Given the description of an element on the screen output the (x, y) to click on. 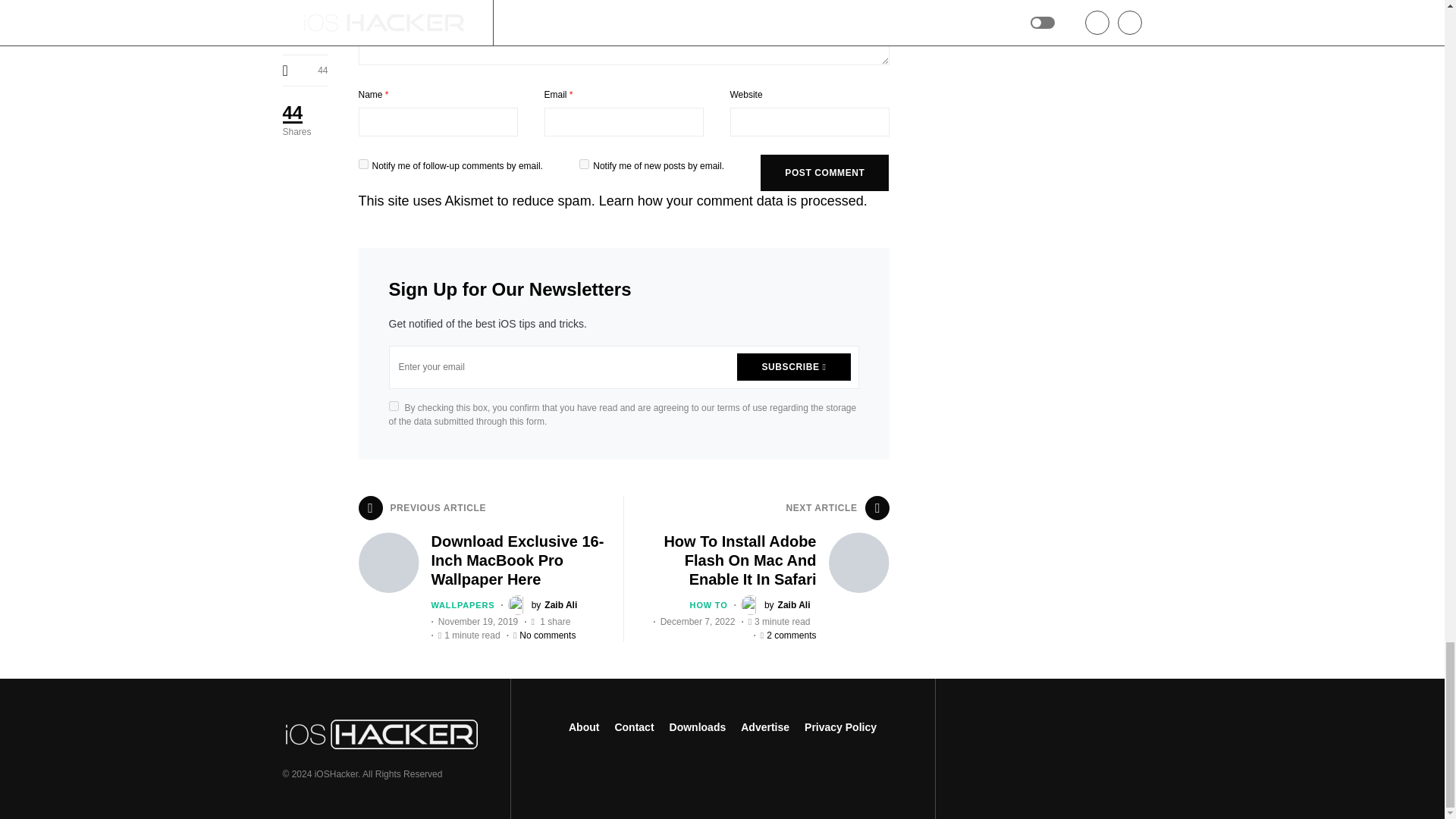
View all posts by Zaib Ali (543, 605)
subscribe (363, 163)
View all posts by Zaib Ali (775, 605)
Post Comment (824, 172)
subscribe (584, 163)
on (392, 406)
